Given the description of an element on the screen output the (x, y) to click on. 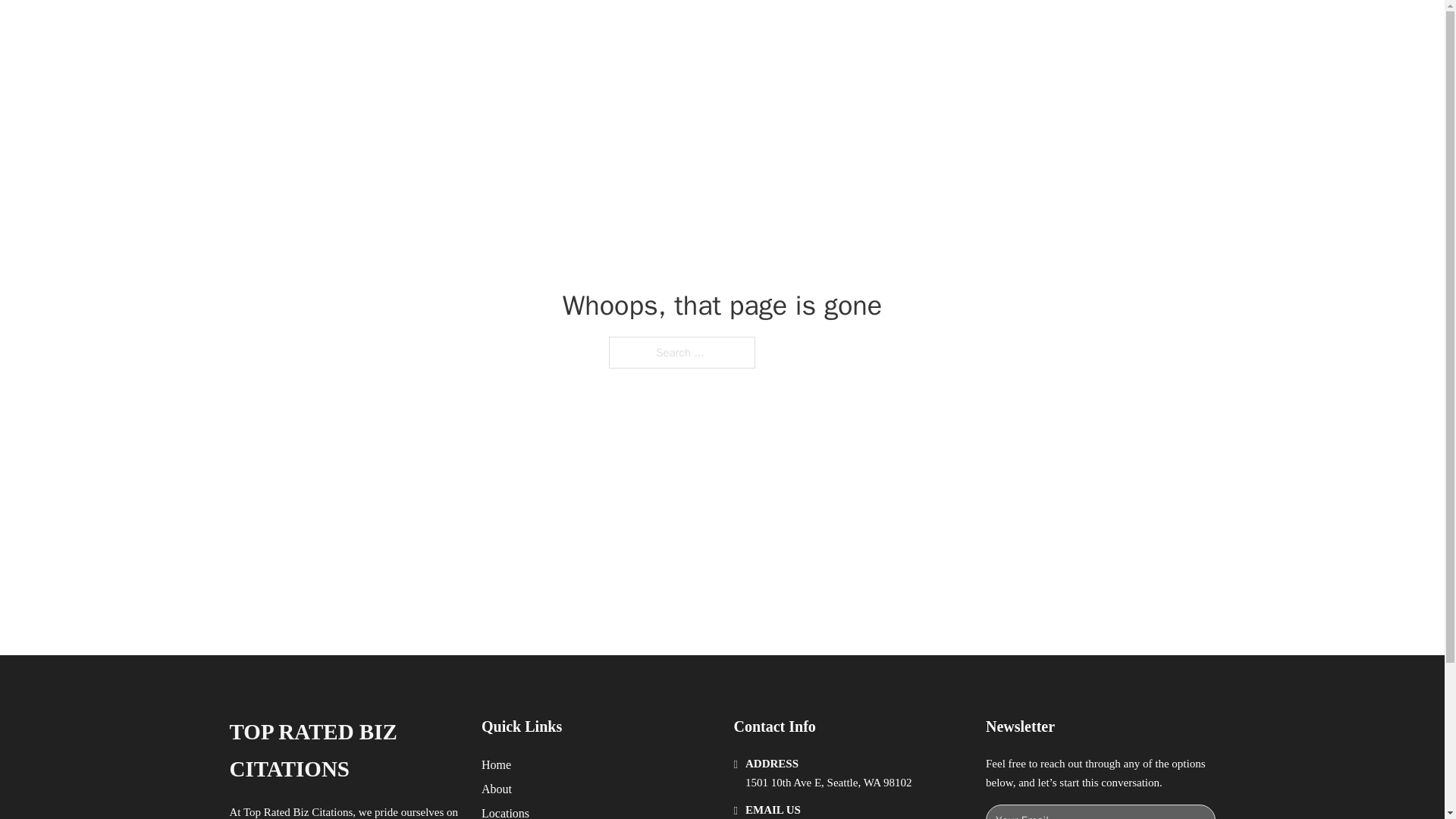
Locations (505, 811)
LOCATIONS (990, 29)
TOP RATED BIZ CITATIONS (438, 28)
HOME (919, 29)
Home (496, 764)
TOP RATED BIZ CITATIONS (343, 750)
About (496, 788)
